Given the description of an element on the screen output the (x, y) to click on. 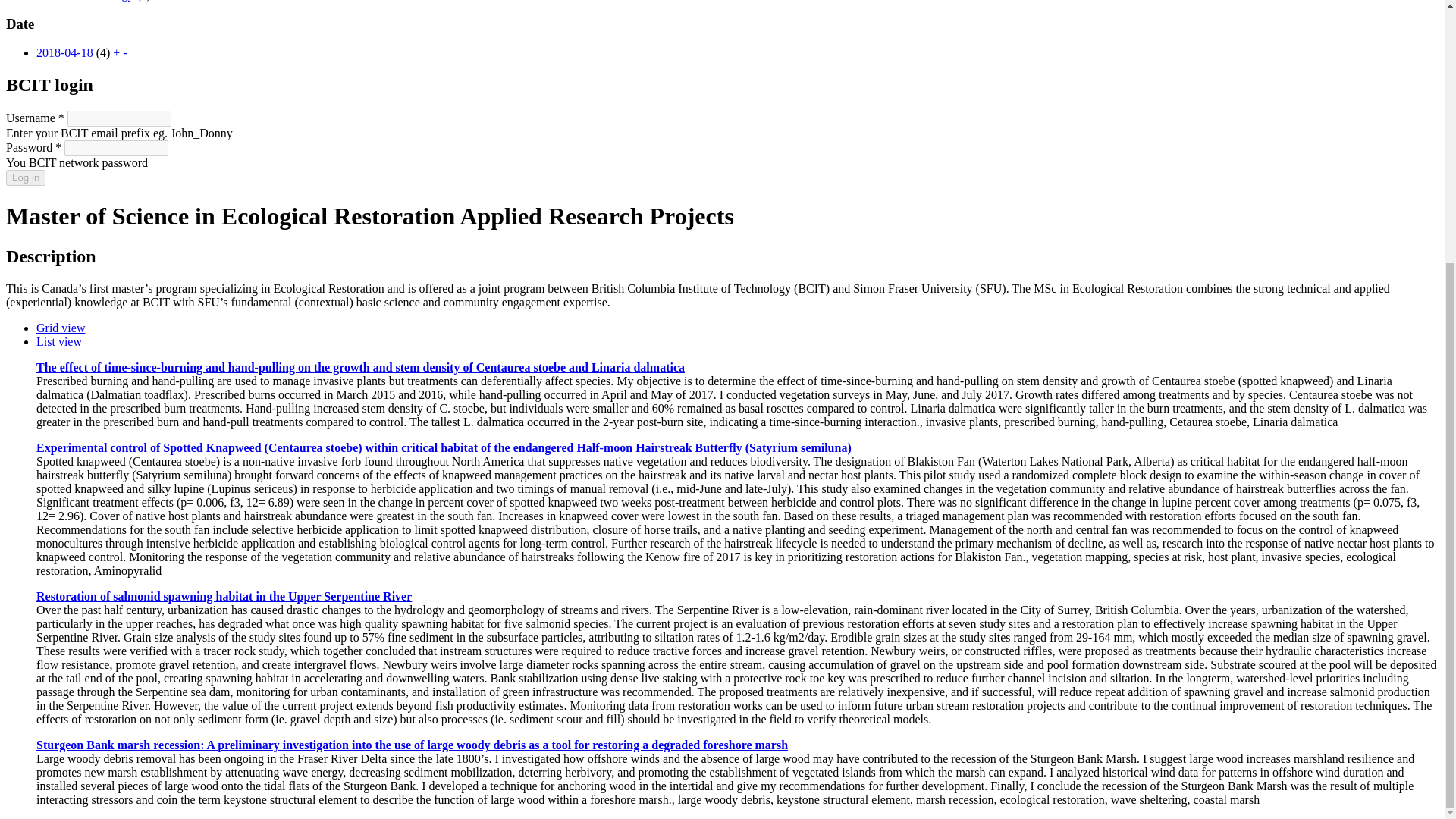
List view (58, 341)
Log in (25, 177)
Log in (25, 177)
Grid view (60, 327)
2018-04-18 (64, 51)
